Given the description of an element on the screen output the (x, y) to click on. 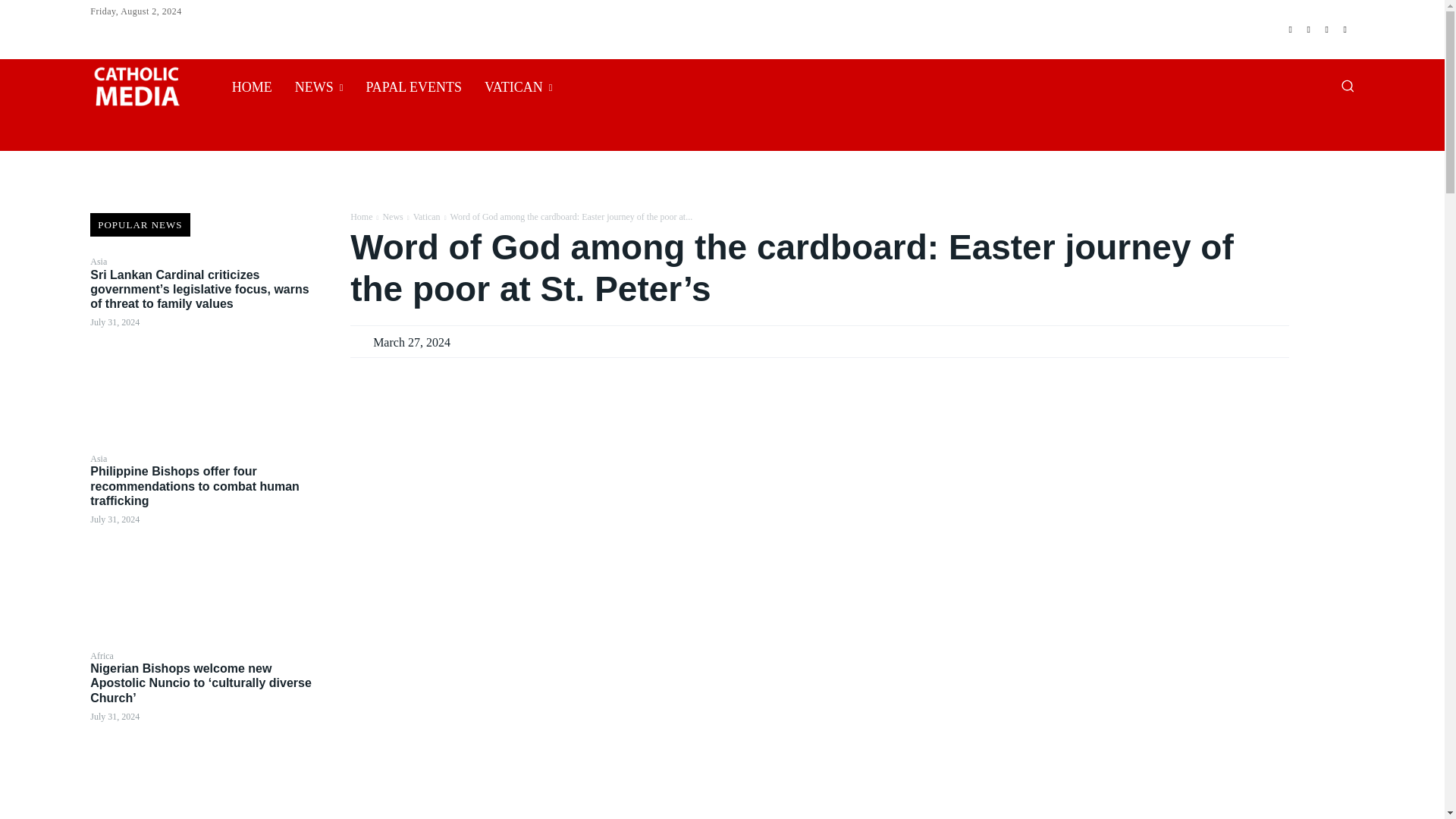
Facebook (1290, 29)
Twitter (1326, 29)
HOME (252, 86)
NEWS (319, 86)
VATICAN (518, 86)
PAPAL EVENTS (413, 86)
Youtube (1345, 29)
Instagram (1308, 29)
